Given the description of an element on the screen output the (x, y) to click on. 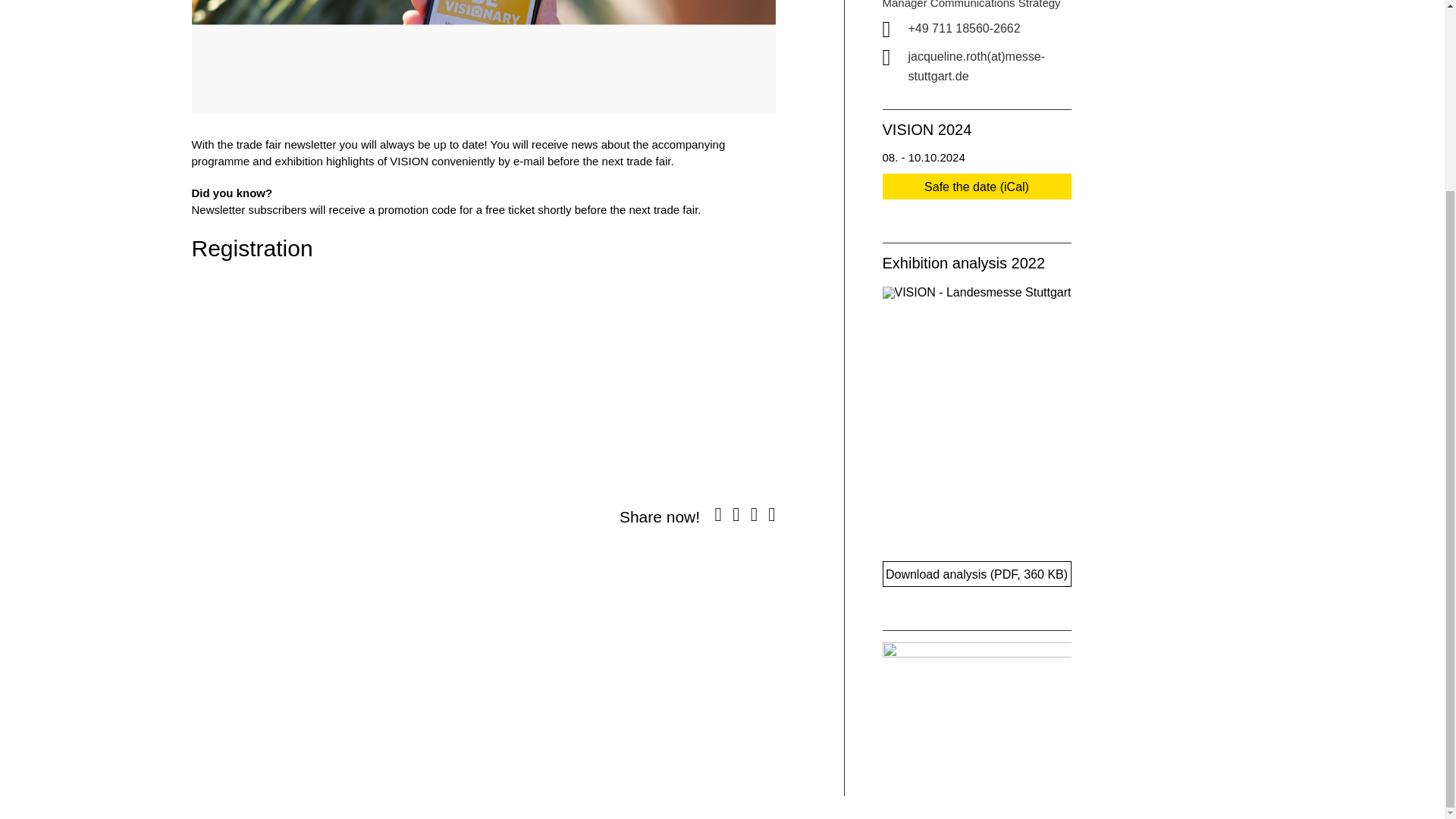
Trade fair newsletter (482, 56)
Call number (994, 29)
Exhibition analysis VISION 2021 (976, 574)
Write mail (994, 65)
